Given the description of an element on the screen output the (x, y) to click on. 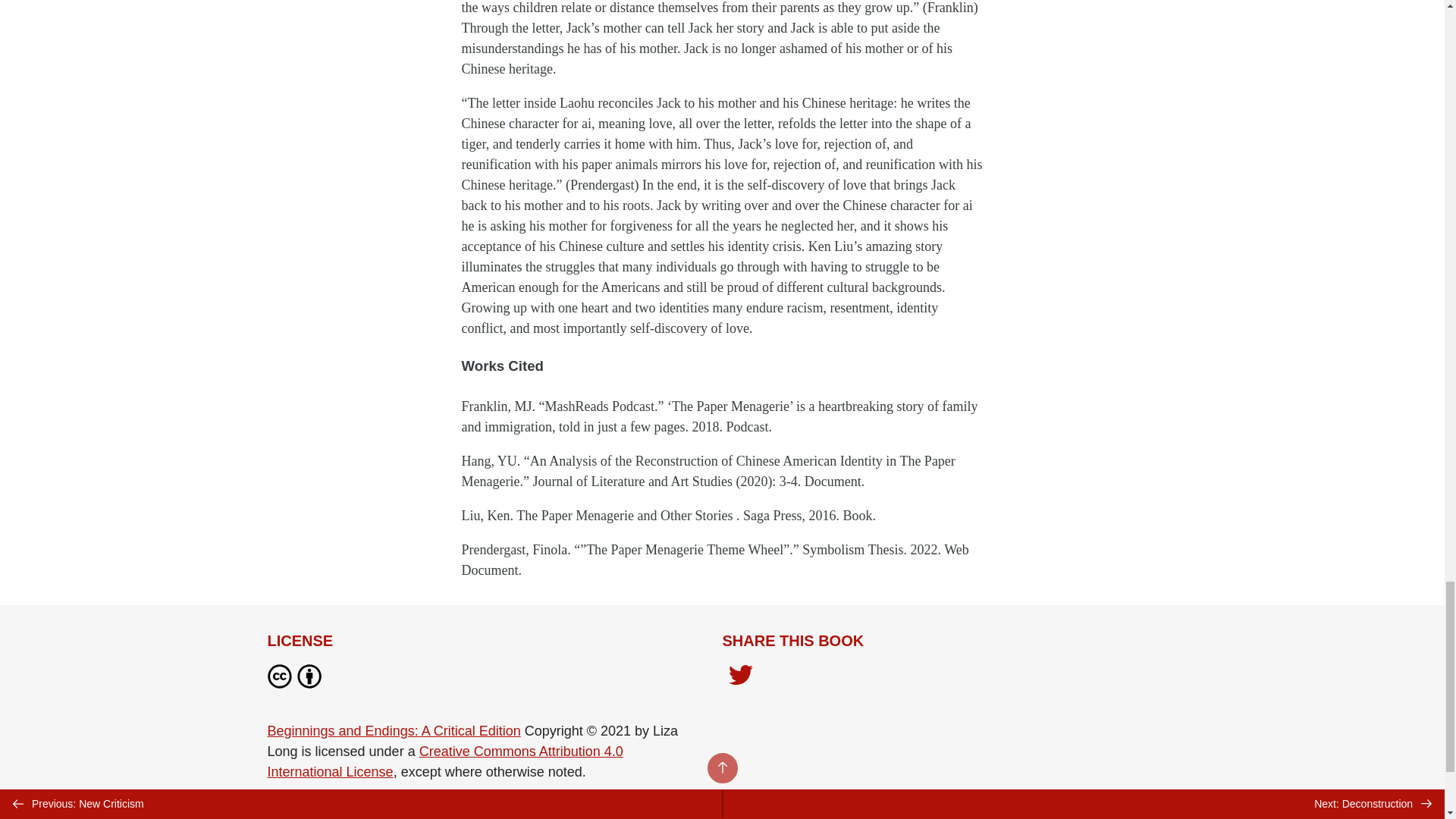
Share on Twitter (740, 676)
Share on Twitter (740, 678)
Creative Commons Attribution 4.0 International License (444, 761)
Beginnings and Endings: A Critical Edition (392, 730)
